Given the description of an element on the screen output the (x, y) to click on. 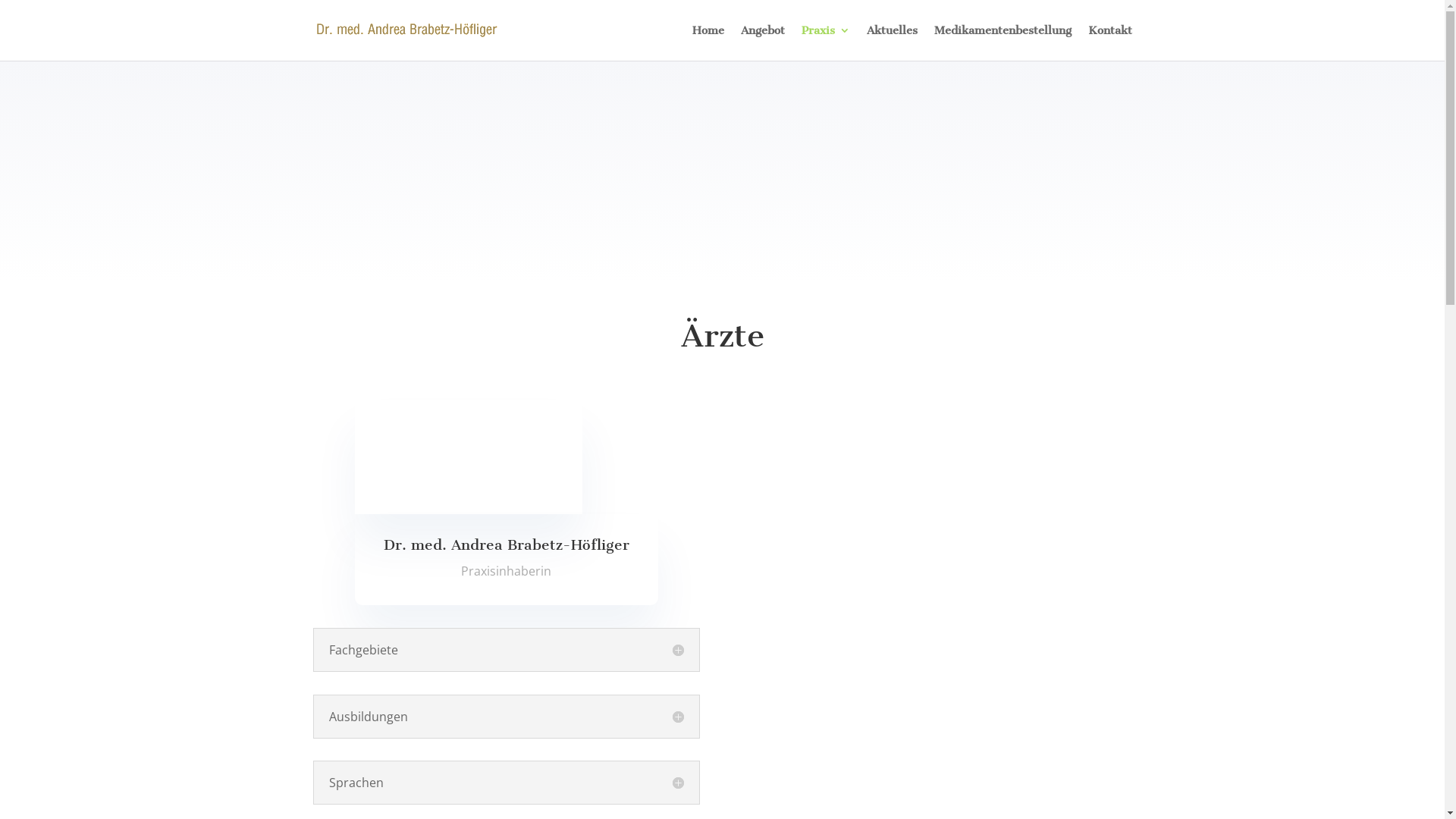
Praxis Element type: text (824, 42)
Medikamentenbestellung Element type: text (1002, 42)
Angebot Element type: text (762, 42)
Aktuelles Element type: text (891, 42)
Home Element type: text (707, 42)
Kontakt Element type: text (1109, 42)
